Given the description of an element on the screen output the (x, y) to click on. 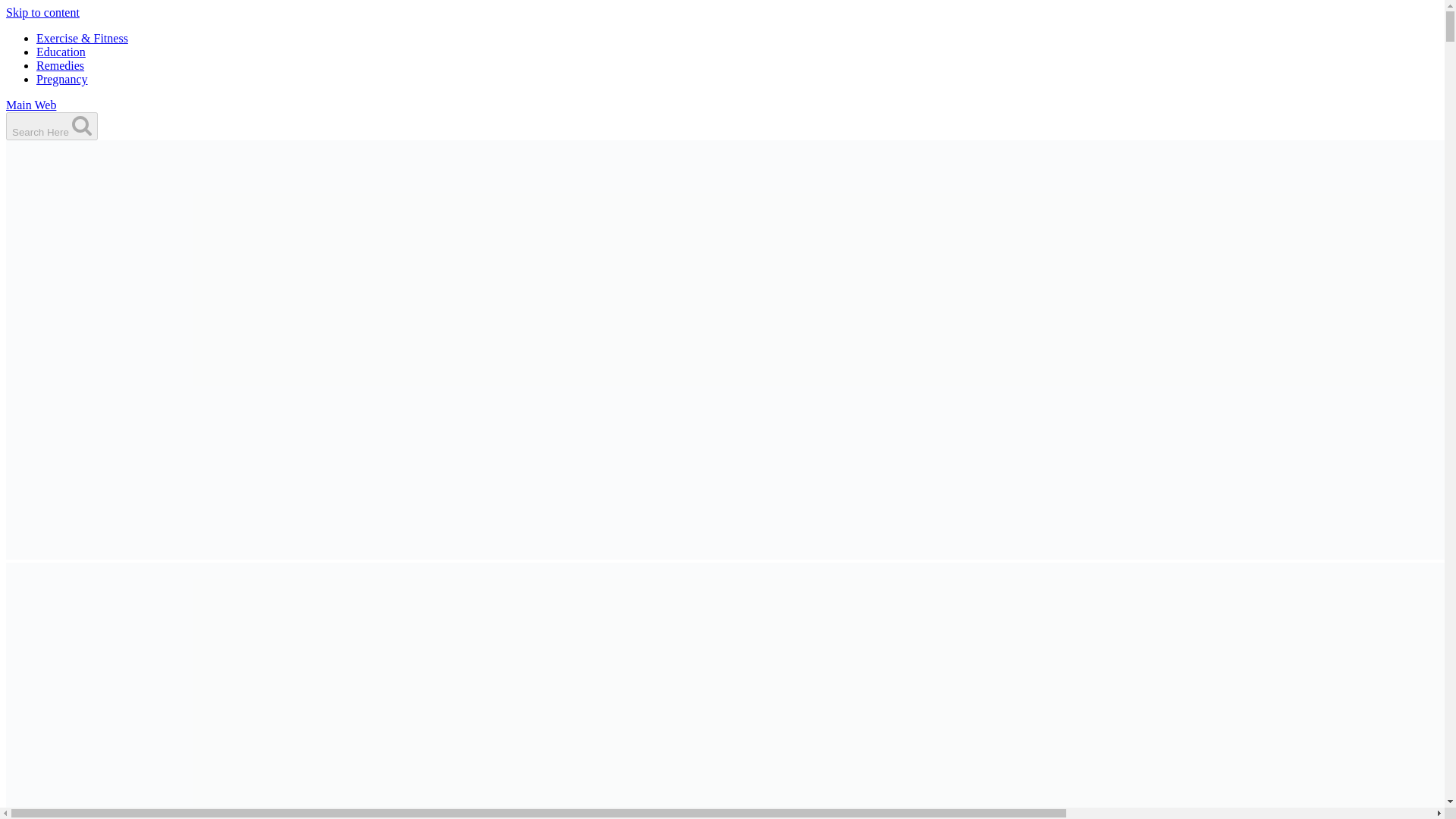
Education (60, 51)
Search Here Search (51, 126)
Search (81, 124)
Main Web (30, 104)
Pregnancy (61, 78)
Remedies (60, 65)
Skip to content (42, 11)
Skip to content (42, 11)
